Given the description of an element on the screen output the (x, y) to click on. 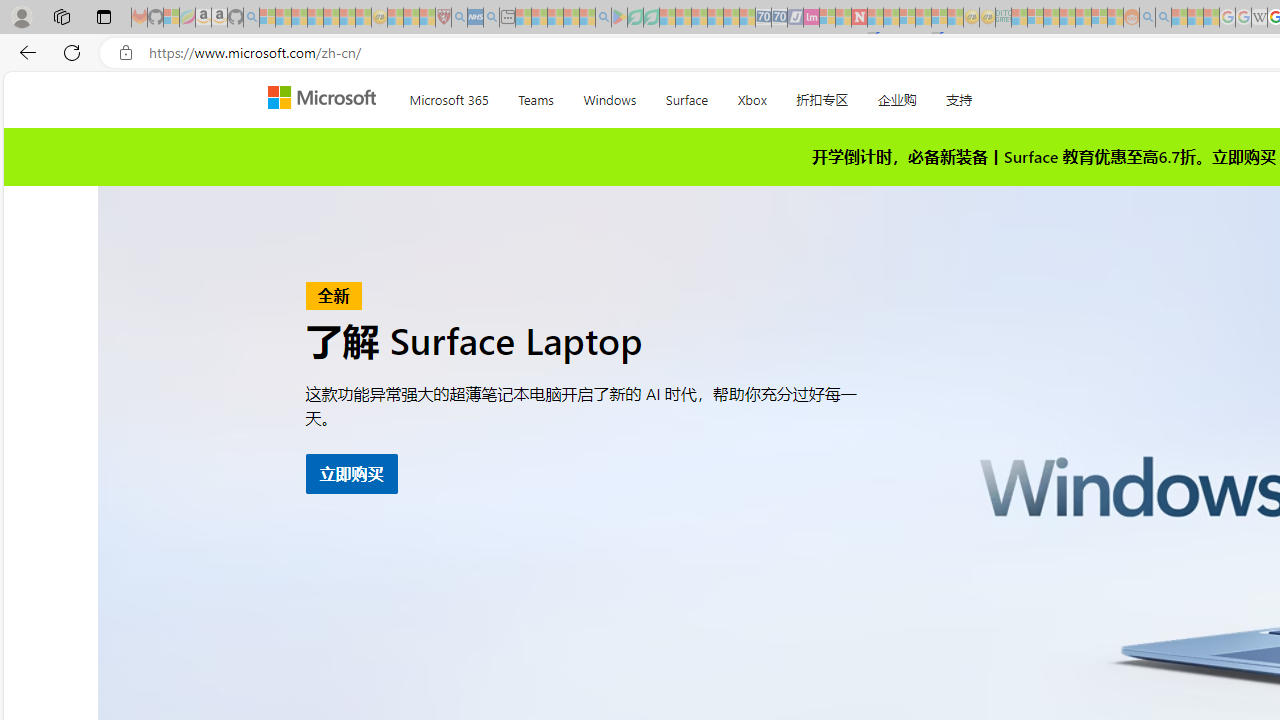
Xbox (751, 96)
Microsoft-Report a Concern to Bing - Sleeping (171, 17)
DITOGAMES AG Imprint - Sleeping (1003, 17)
Kinda Frugal - MSN - Sleeping (1083, 17)
Trusted Community Engagement and Contributions | Guidelines (875, 17)
Bluey: Let's Play! - Apps on Google Play - Sleeping (619, 17)
